Given the description of an element on the screen output the (x, y) to click on. 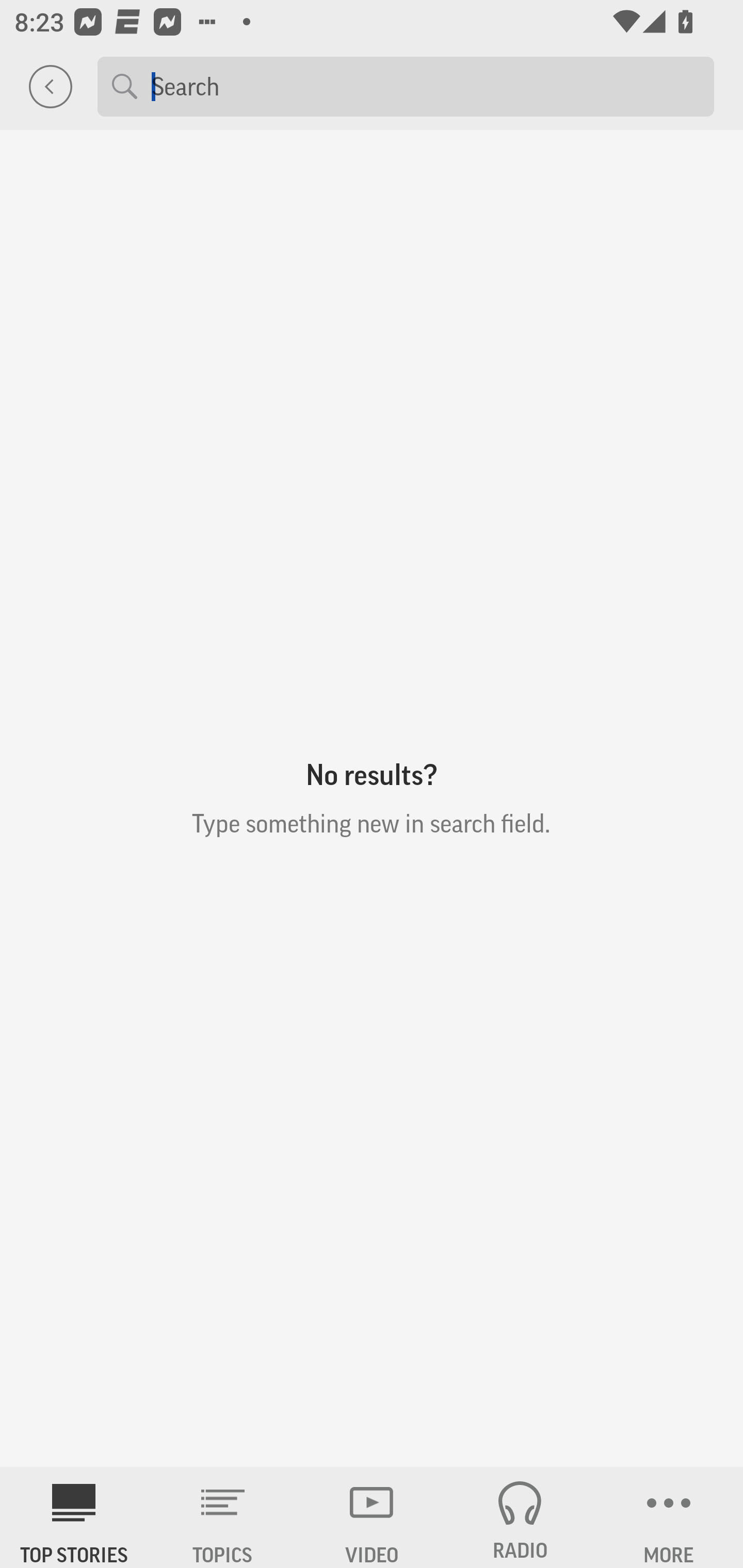
Search (425, 86)
AP News TOP STORIES (74, 1517)
TOPICS (222, 1517)
VIDEO (371, 1517)
RADIO (519, 1517)
MORE (668, 1517)
